Given the description of an element on the screen output the (x, y) to click on. 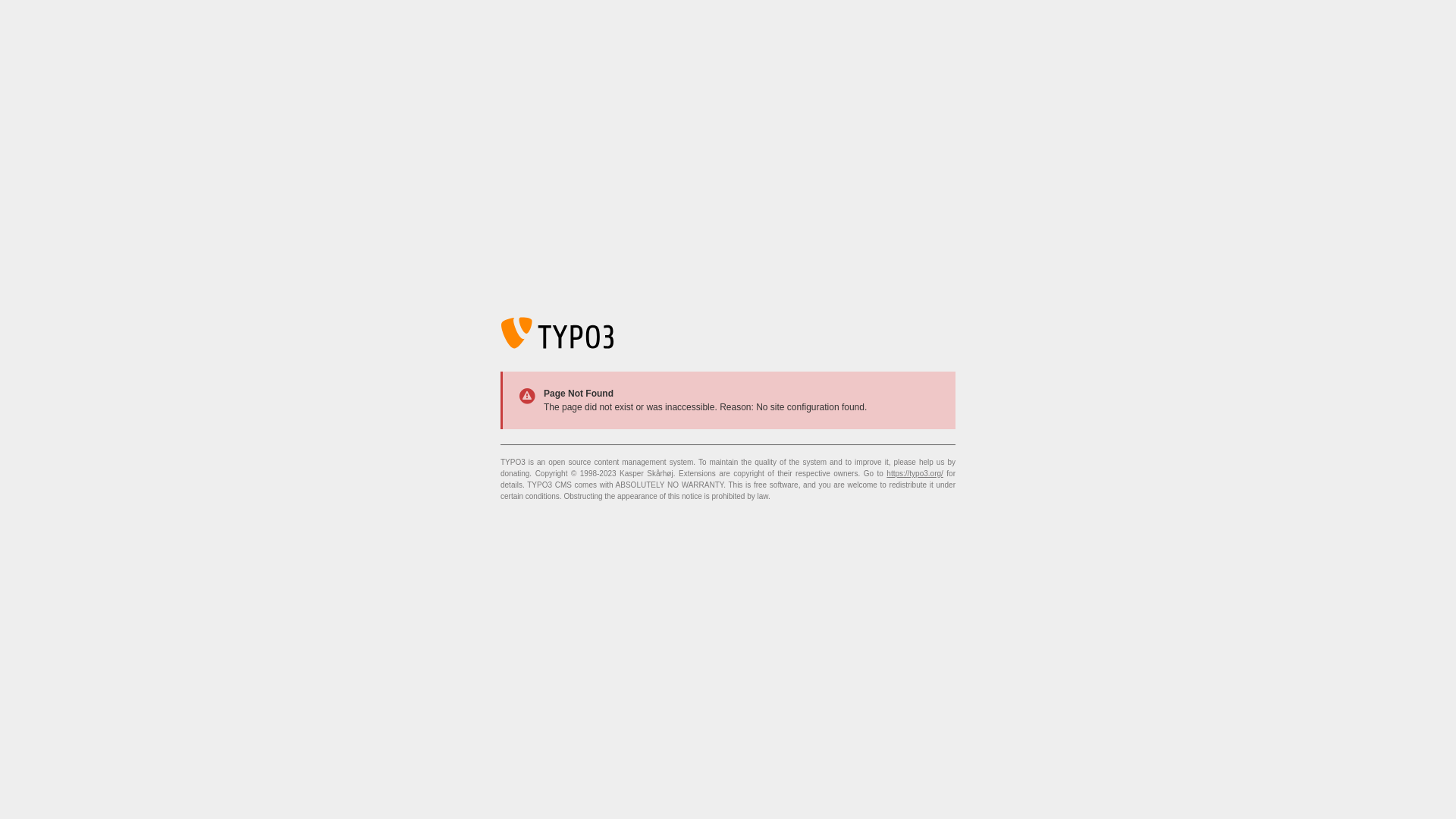
https://typo3.org/ Element type: text (914, 473)
